Given the description of an element on the screen output the (x, y) to click on. 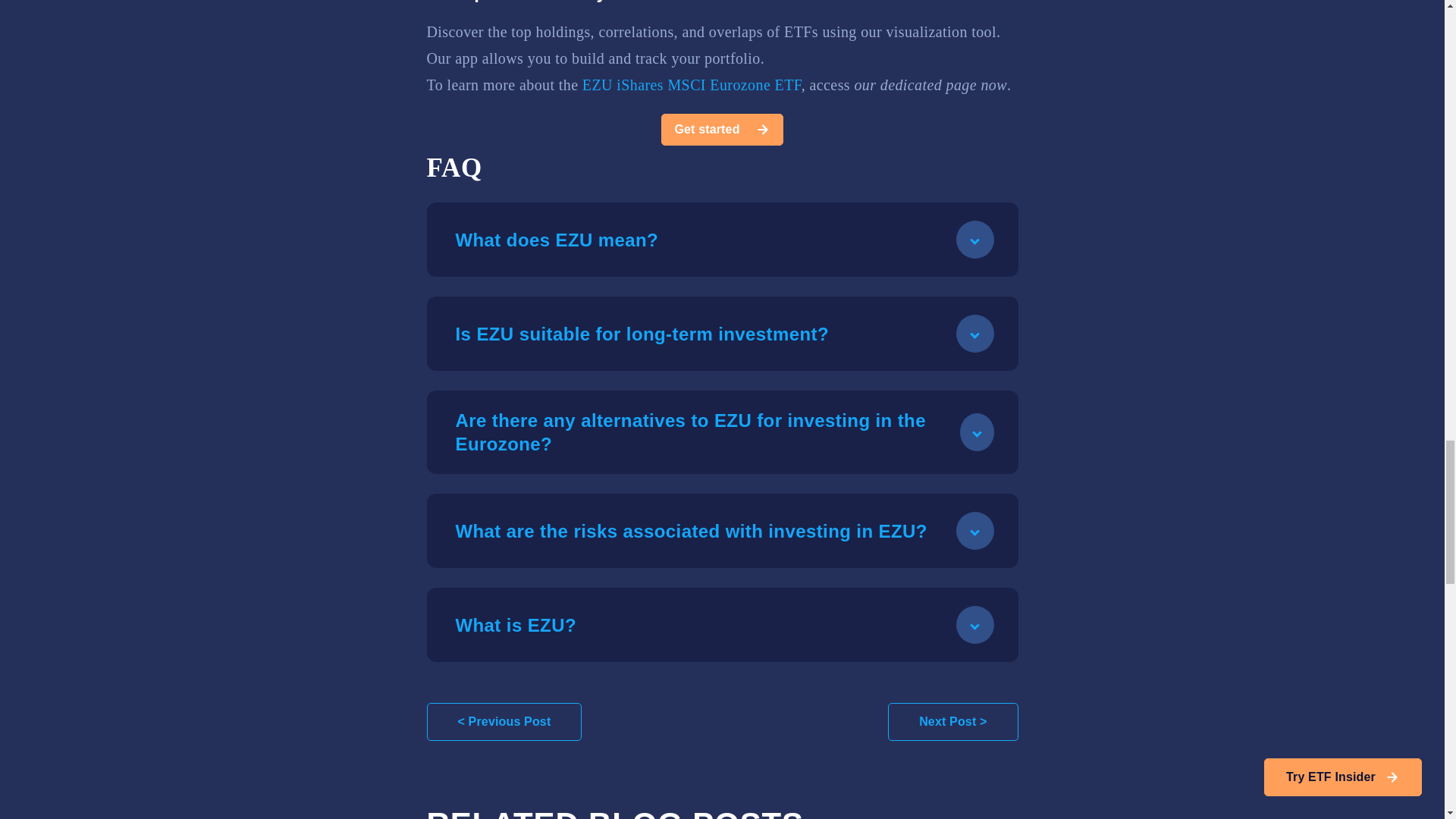
Get started (722, 129)
EZU (597, 84)
iShares MSCI Eurozone ETF (707, 84)
